Given the description of an element on the screen output the (x, y) to click on. 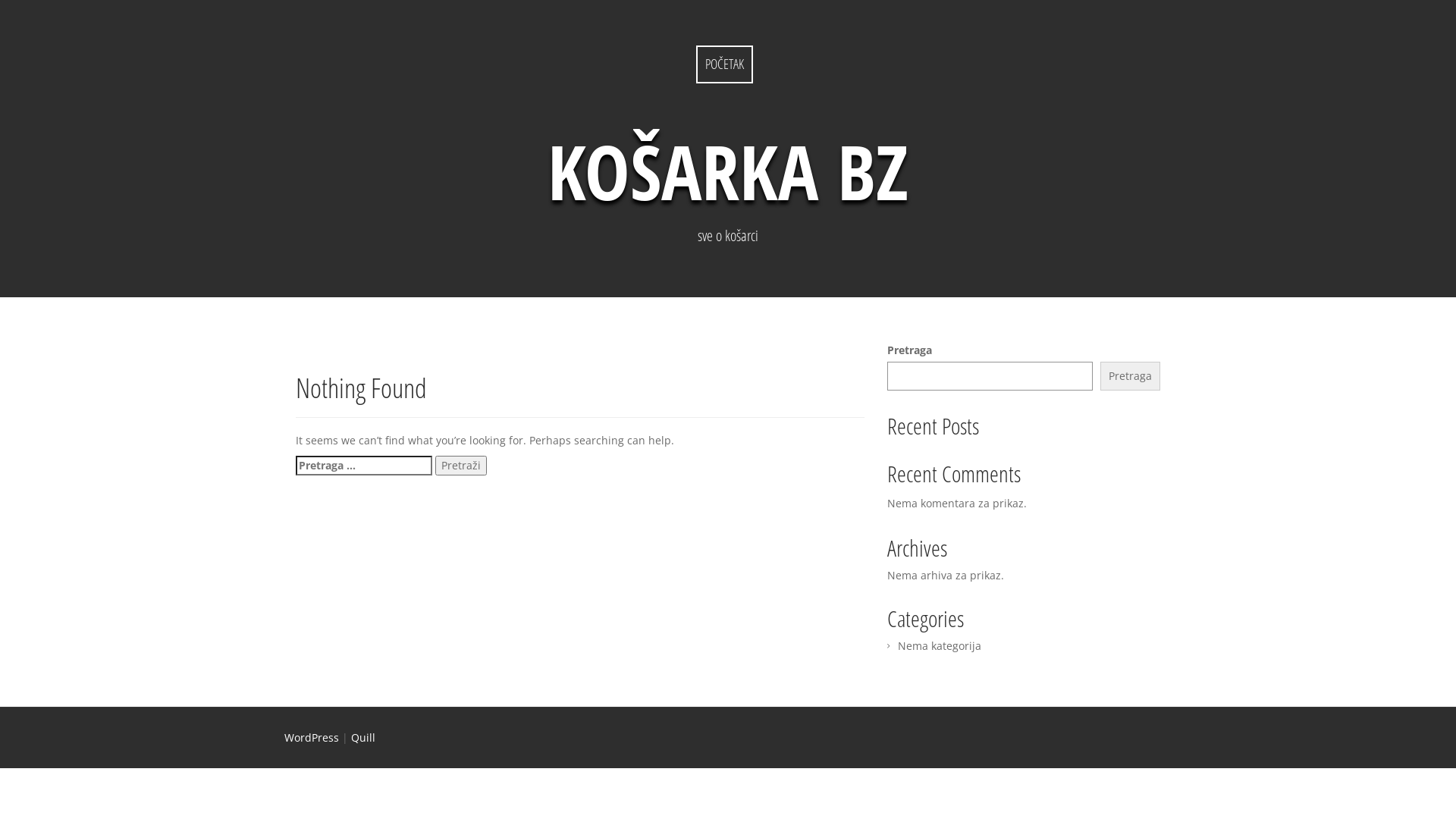
WordPress Element type: text (311, 737)
Quill Element type: text (363, 737)
Pretraga Element type: text (1130, 375)
